Given the description of an element on the screen output the (x, y) to click on. 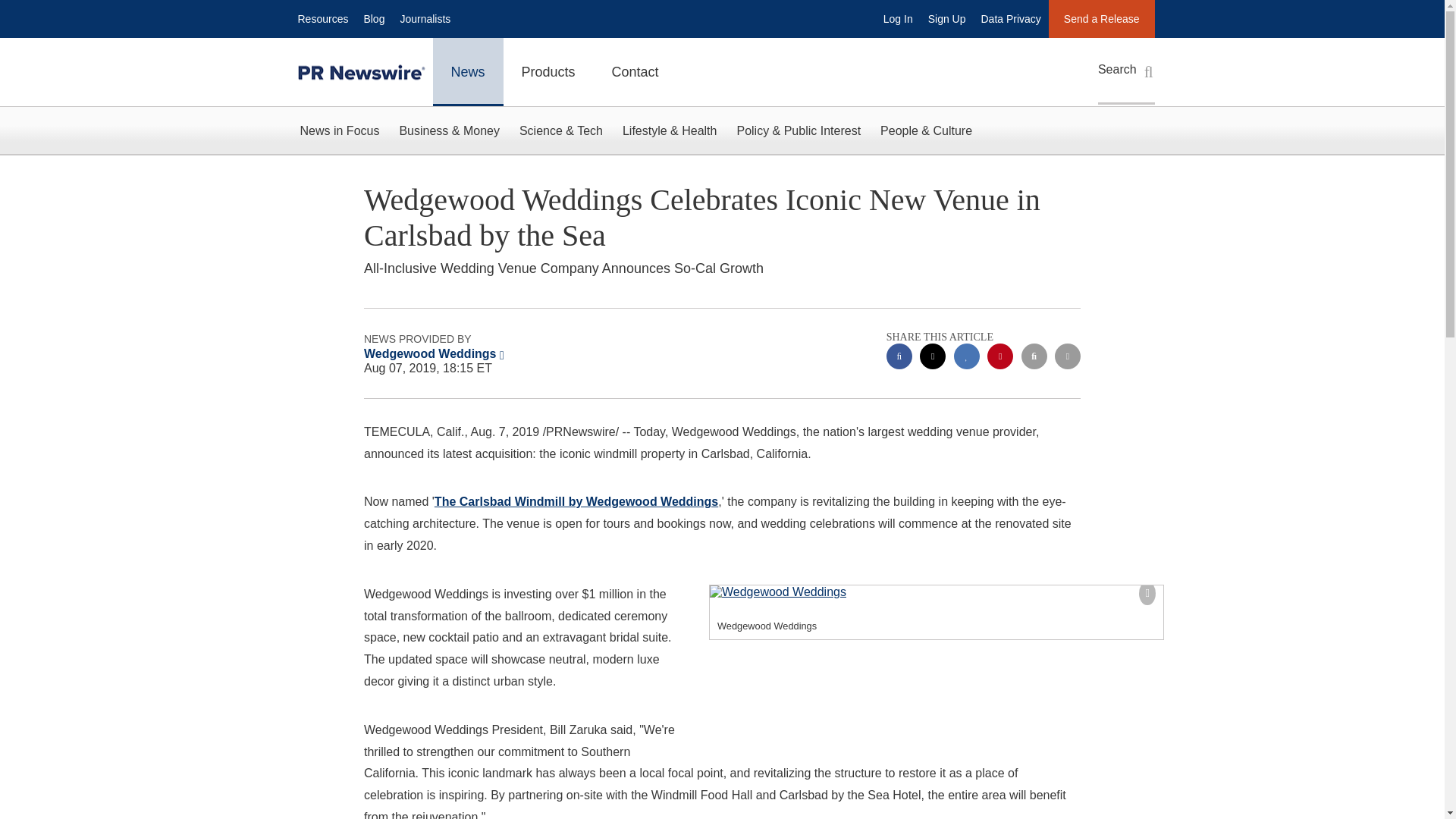
News in Focus (338, 130)
